Given the description of an element on the screen output the (x, y) to click on. 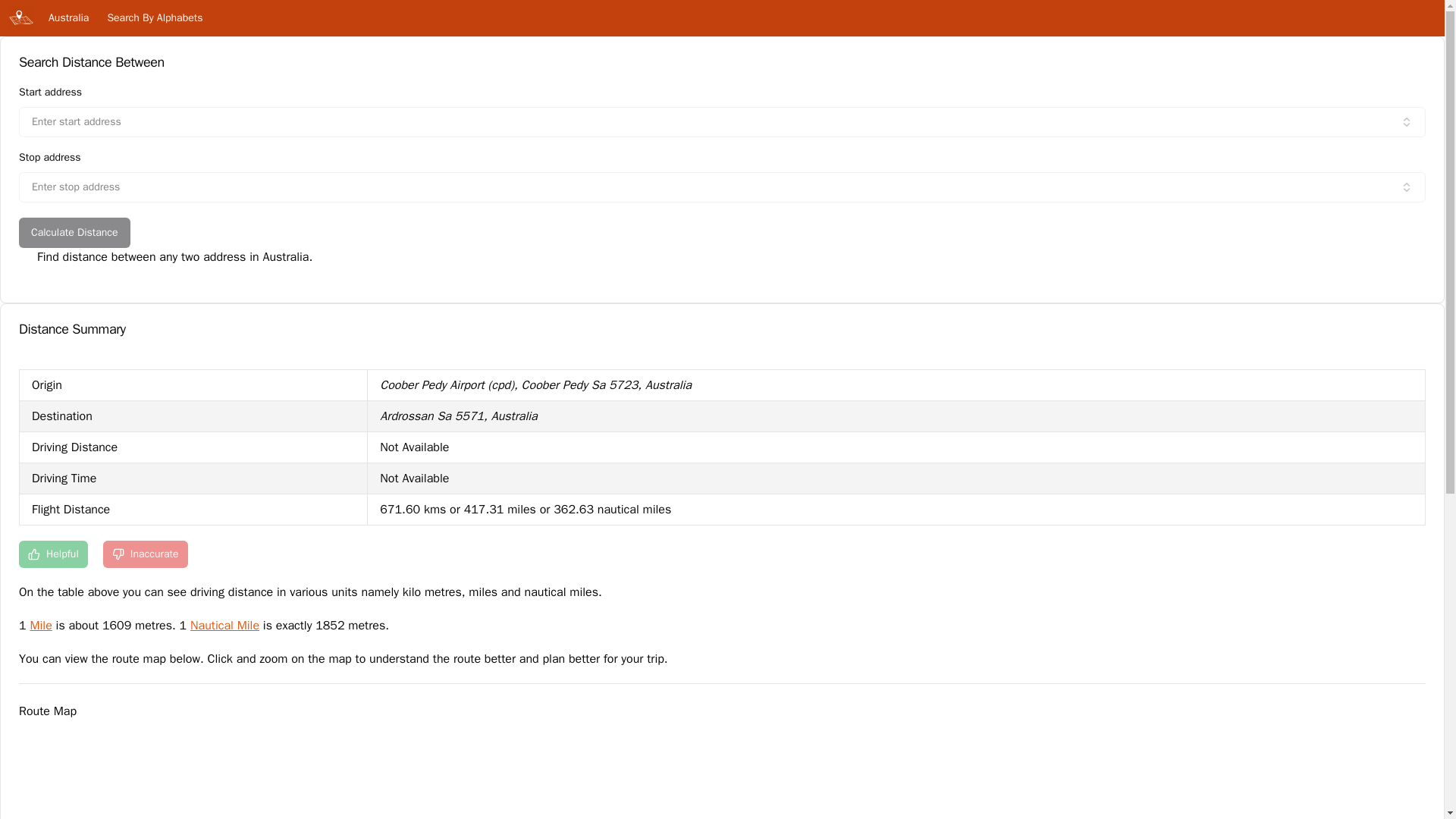
Inaccurate (145, 554)
Search By Alphabets (154, 18)
Mile (39, 625)
Calculate Distance (74, 232)
Nautical Mile (224, 625)
Enter stop address (721, 186)
Helpful (52, 554)
Australia (68, 18)
Enter start address (721, 122)
